Given the description of an element on the screen output the (x, y) to click on. 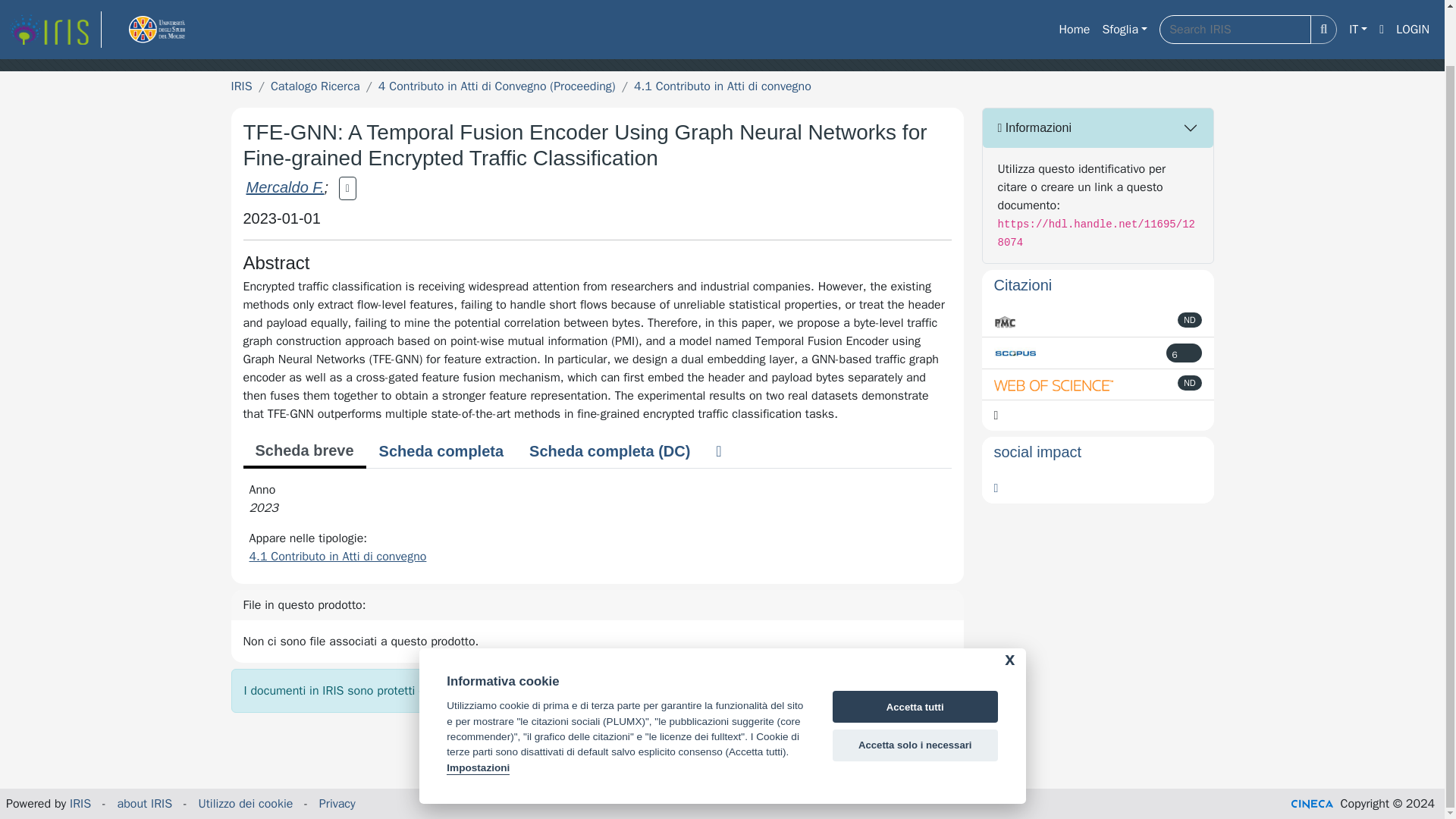
about IRIS (145, 803)
Mercaldo F. (284, 187)
IRIS (240, 86)
Scheda completa (441, 450)
Catalogo Ricerca (314, 86)
IRIS (79, 803)
 Informazioni (1097, 128)
Scheda breve (304, 451)
4.1 Contributo in Atti di convegno (337, 556)
4.1 Contributo in Atti di convegno (721, 86)
